Given the description of an element on the screen output the (x, y) to click on. 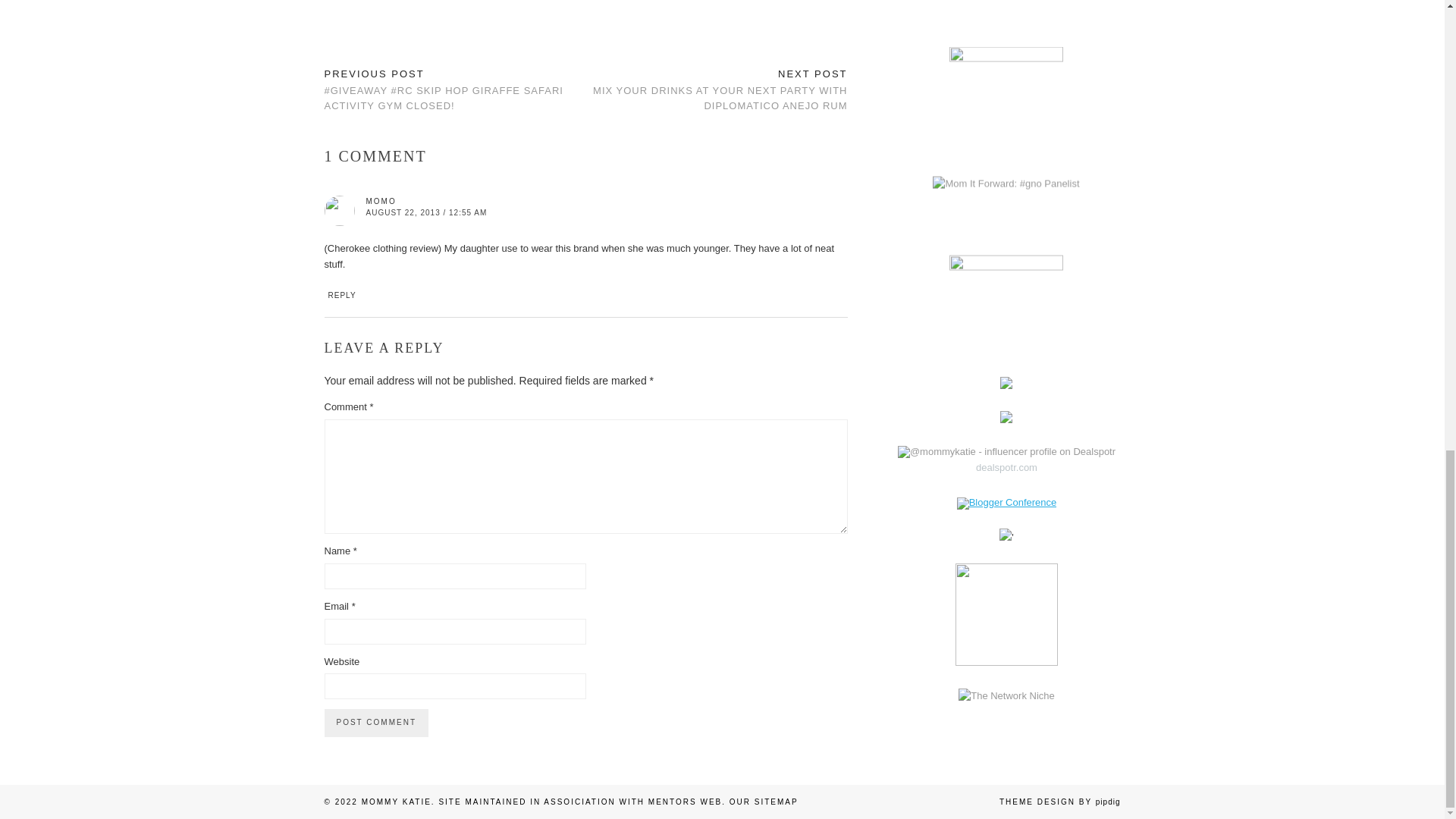
I blog with The Motherhood (1005, 290)
REPLY (341, 295)
Post Comment (376, 722)
The Network Niche (1006, 695)
Blogger Conference (1006, 501)
Post Comment (376, 722)
